Given the description of an element on the screen output the (x, y) to click on. 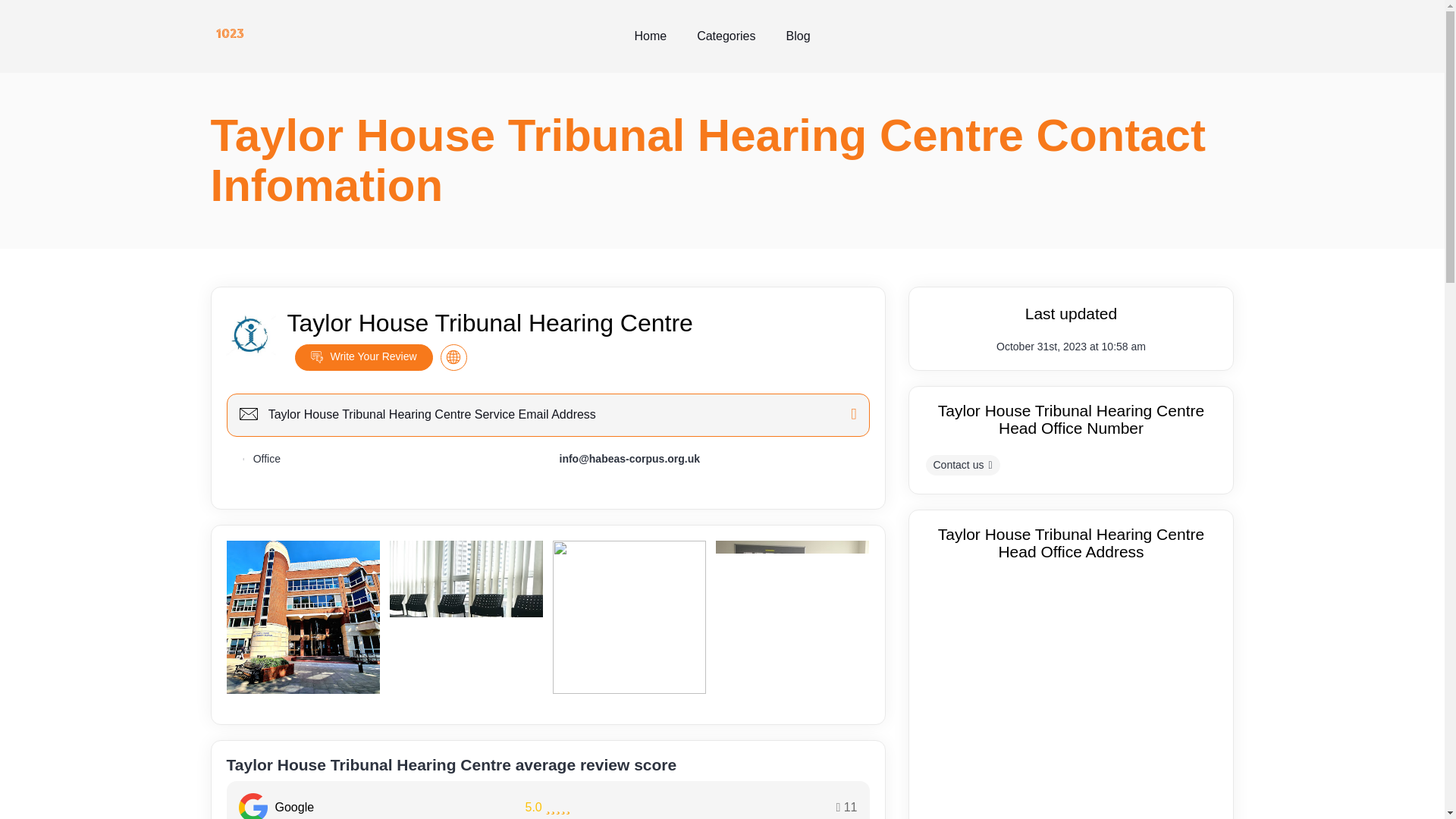
Categories (725, 35)
Contact us (961, 465)
Home (649, 35)
Write Your Review (363, 357)
Blog (798, 35)
